Given the description of an element on the screen output the (x, y) to click on. 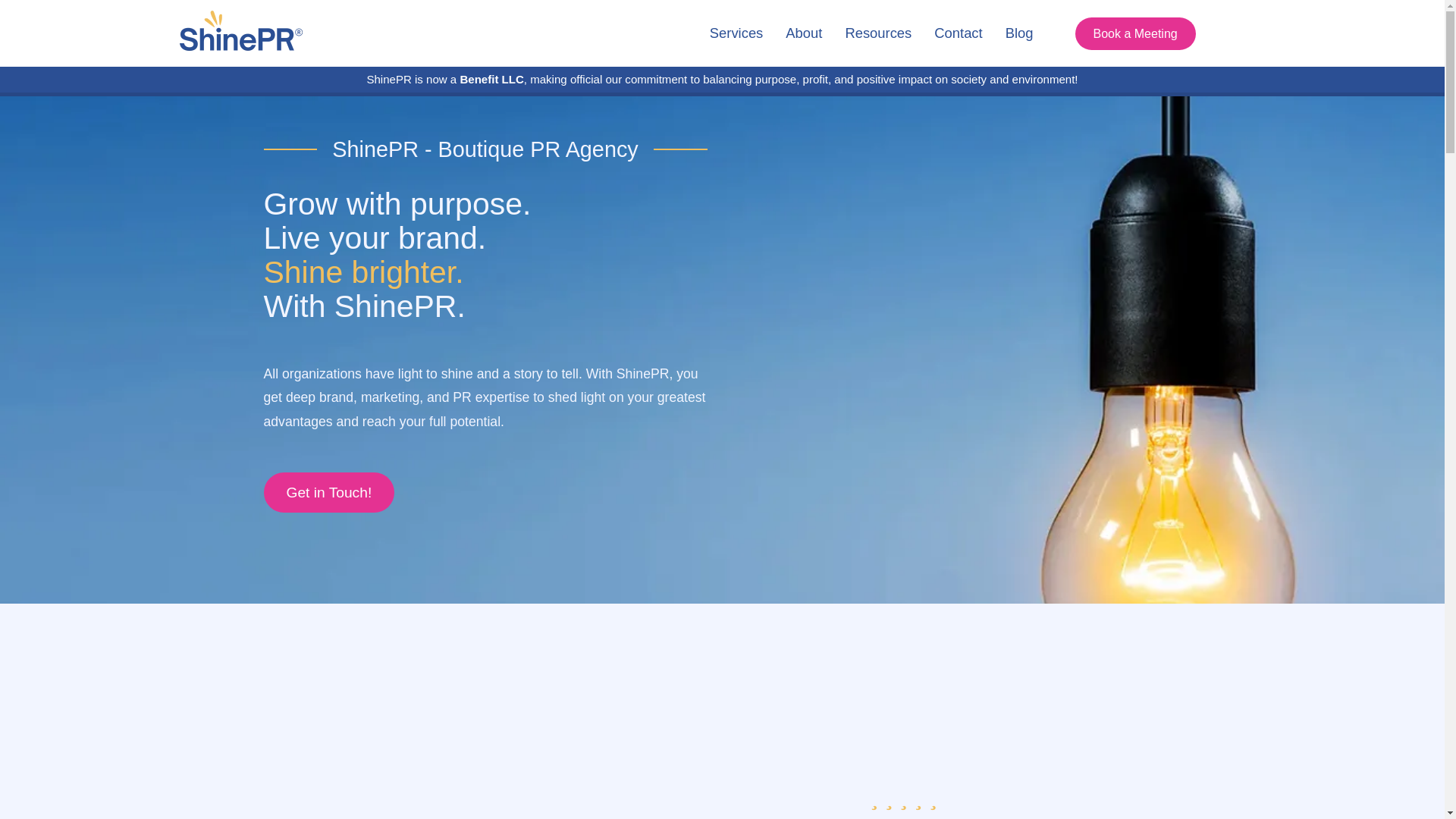
shinepr-logo-4 (240, 33)
Get in Touch! (328, 492)
Services (736, 32)
Blog (1019, 32)
Contact (958, 32)
Resources (877, 32)
About (803, 32)
Book a Meeting (1135, 33)
